Given the description of an element on the screen output the (x, y) to click on. 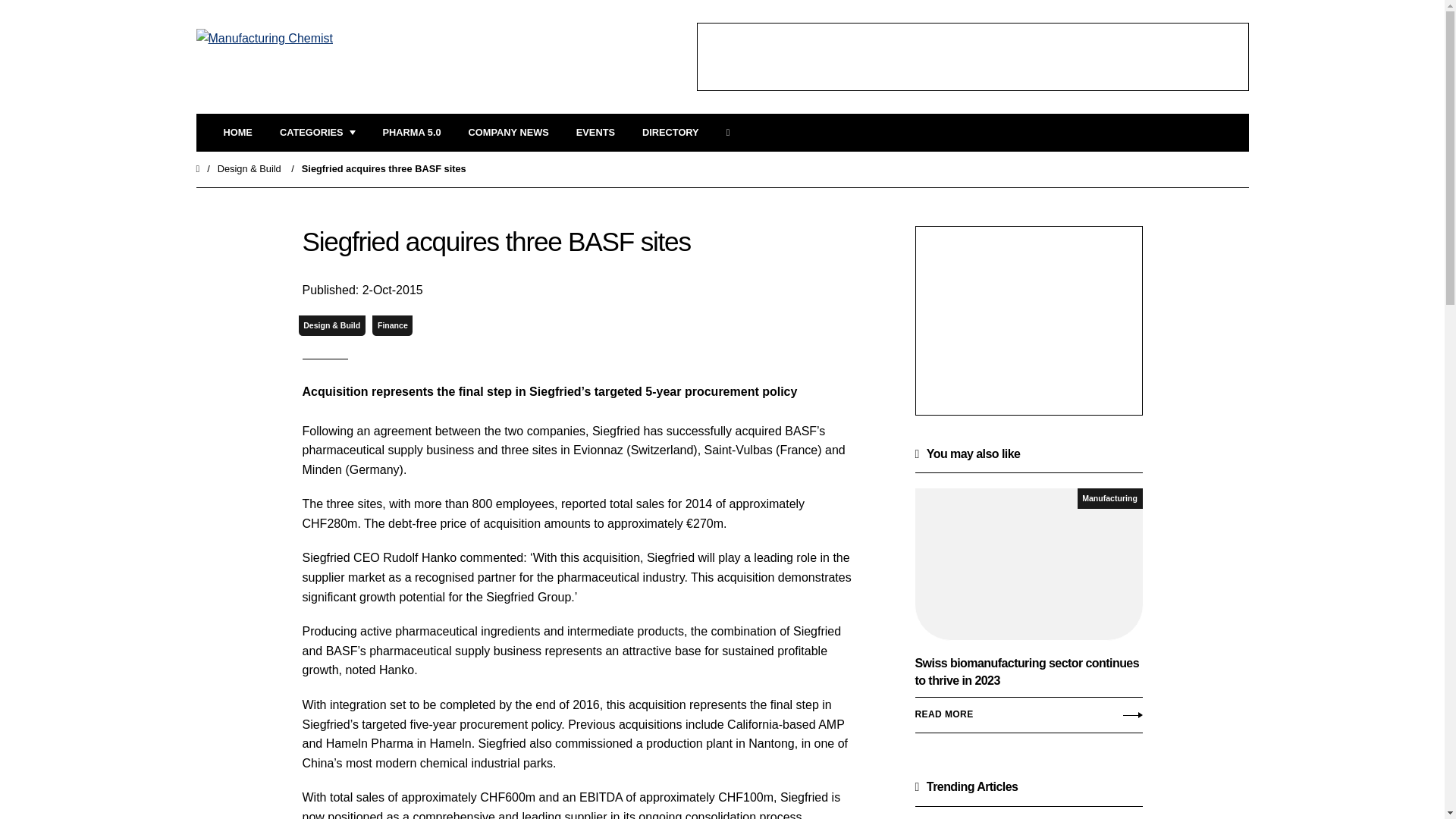
CATEGORIES (317, 133)
PHARMA 5.0 (411, 133)
HOME (236, 133)
Manufacturing (1109, 498)
SEARCH (732, 133)
DIRECTORY (670, 133)
Finance (392, 325)
EVENTS (595, 133)
COMPANY NEWS (508, 133)
Pharma 5.0 (411, 133)
Directory (670, 133)
